Given the description of an element on the screen output the (x, y) to click on. 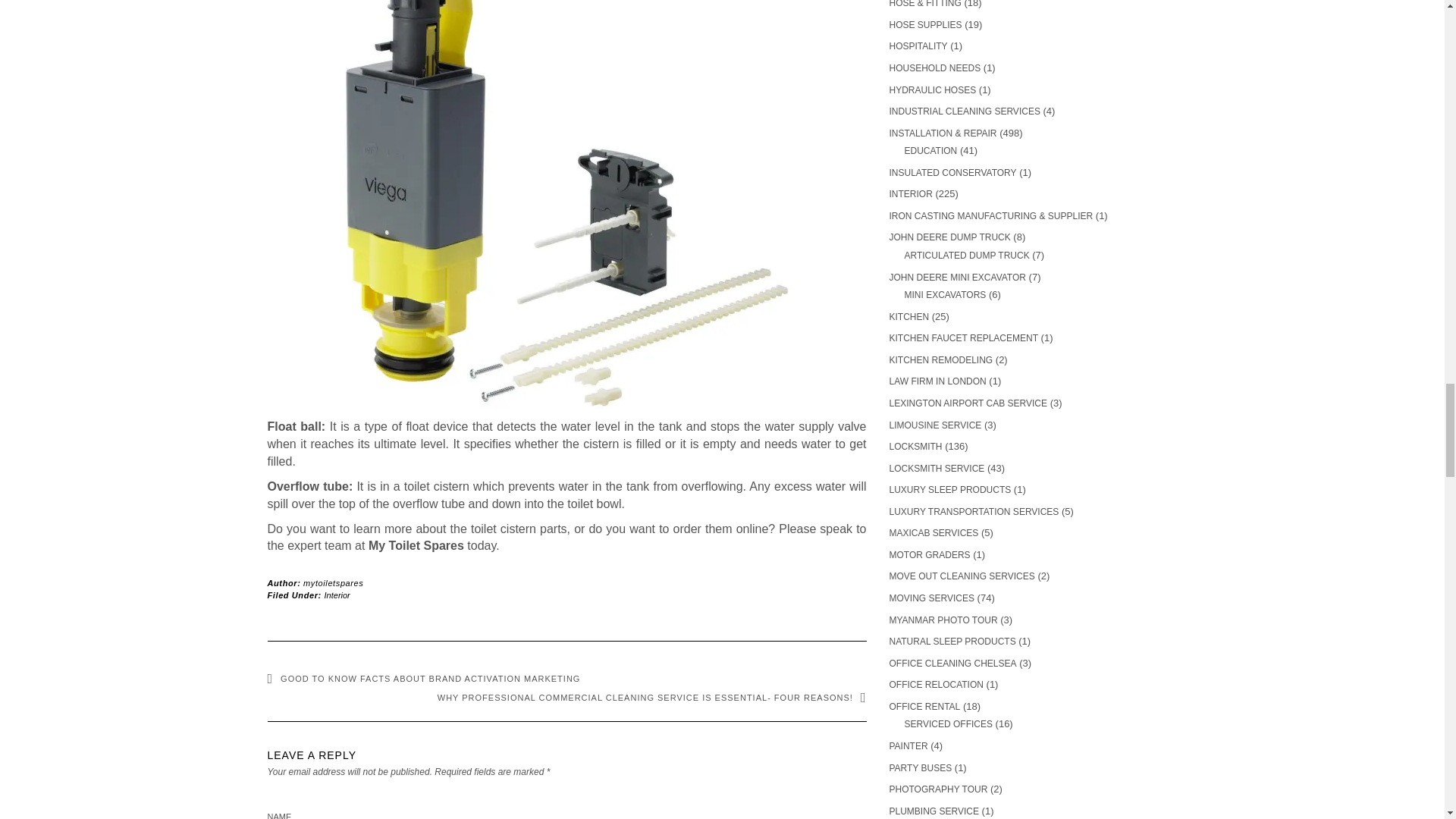
Interior (337, 594)
GOOD TO KNOW FACTS ABOUT BRAND ACTIVATION MARKETING (422, 678)
mytoiletspares (332, 583)
Posts by mytoiletspares (332, 583)
